Given the description of an element on the screen output the (x, y) to click on. 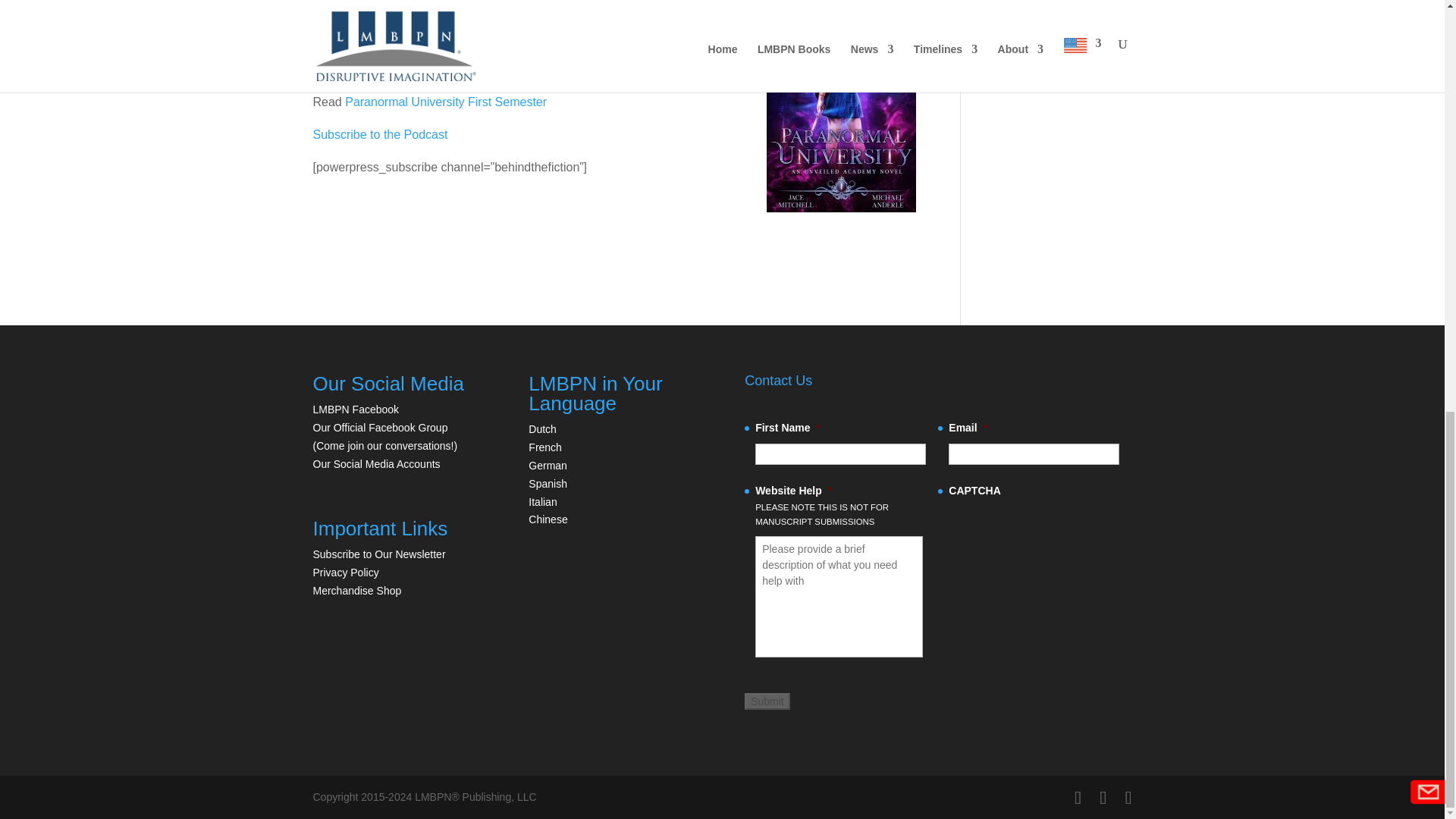
Subscribe to the Podcast (379, 133)
LMBPN Facebook  (357, 409)
Our Social Media Accounts (376, 463)
Our Official Facebook Group (379, 427)
Paranormal University First Semester (446, 101)
Submit (767, 701)
